Given the description of an element on the screen output the (x, y) to click on. 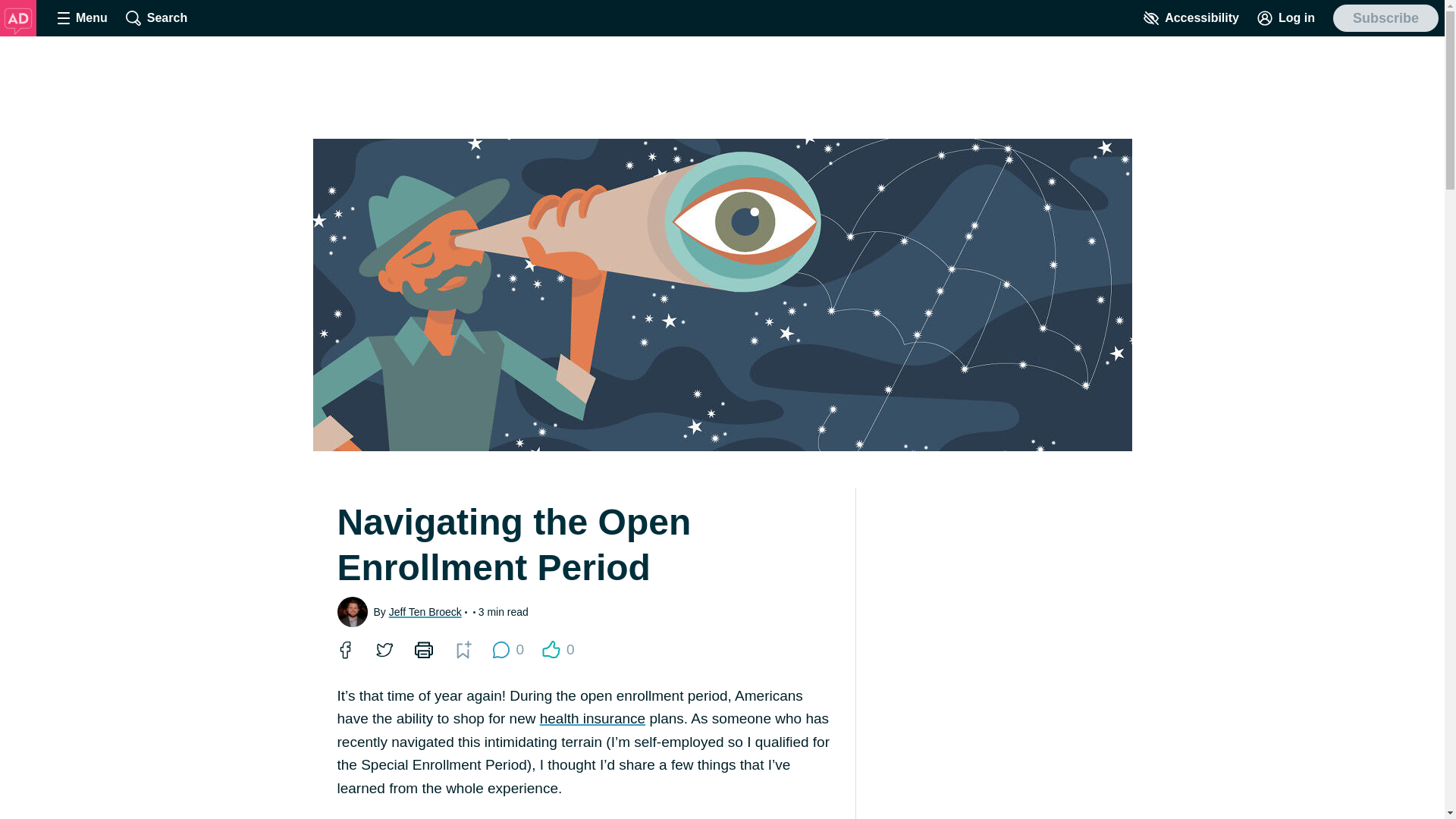
print page (422, 649)
Search (156, 18)
Bookmark for later (462, 649)
Share to Twitter (383, 649)
health insurance (592, 718)
Bookmark for later (461, 649)
comment (500, 649)
Subscribe (1385, 17)
Share to Facebook (343, 649)
Reactions (550, 649)
Accessibility (1190, 18)
Log in (1285, 18)
Share to Twitter (383, 649)
Menu (82, 18)
print page (422, 649)
